Given the description of an element on the screen output the (x, y) to click on. 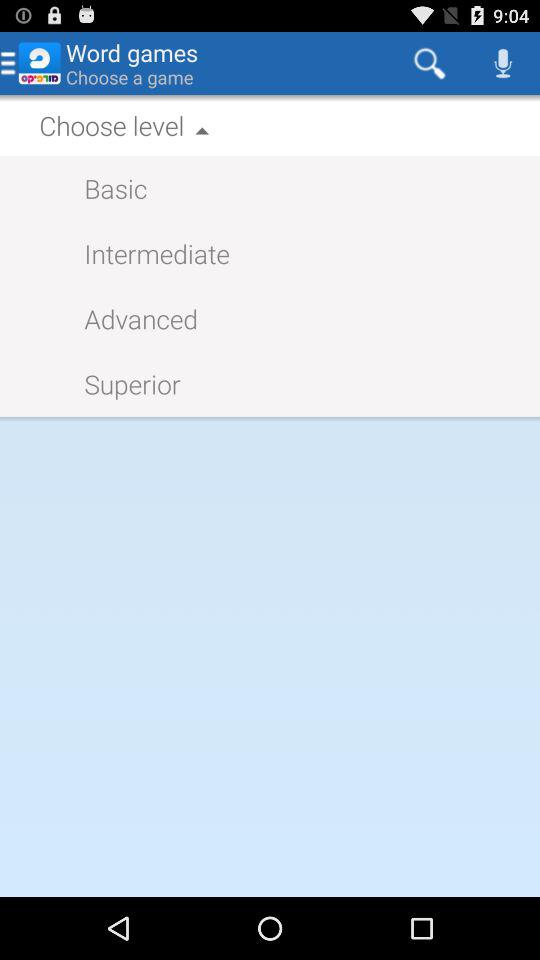
choose icon on the left (122, 383)
